Given the description of an element on the screen output the (x, y) to click on. 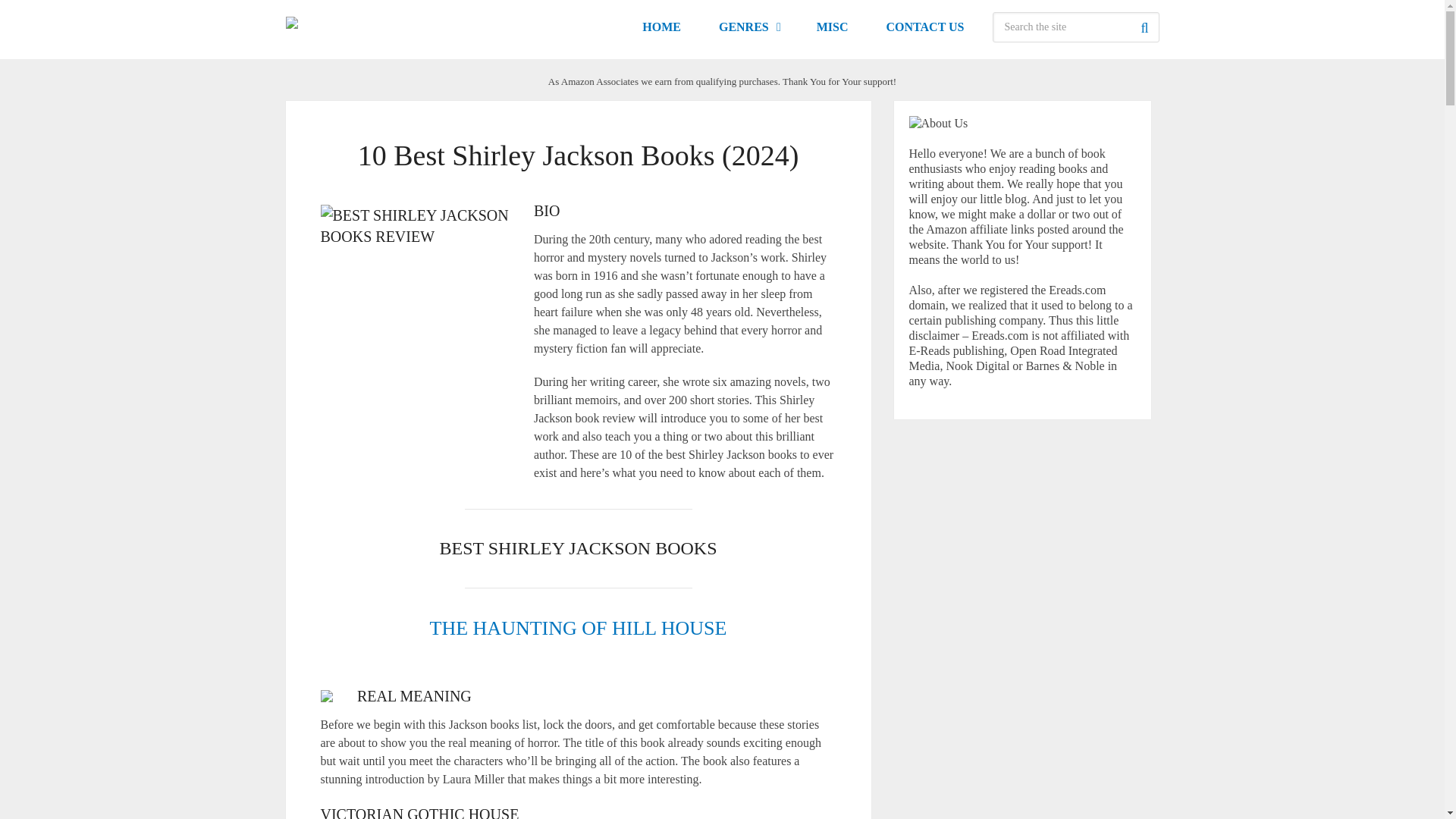
THE HAUNTING OF HILL HOUSE (577, 628)
CONTACT US (925, 27)
GENRES (748, 27)
Search (1143, 27)
MISC (832, 27)
HOME (661, 27)
